Given the description of an element on the screen output the (x, y) to click on. 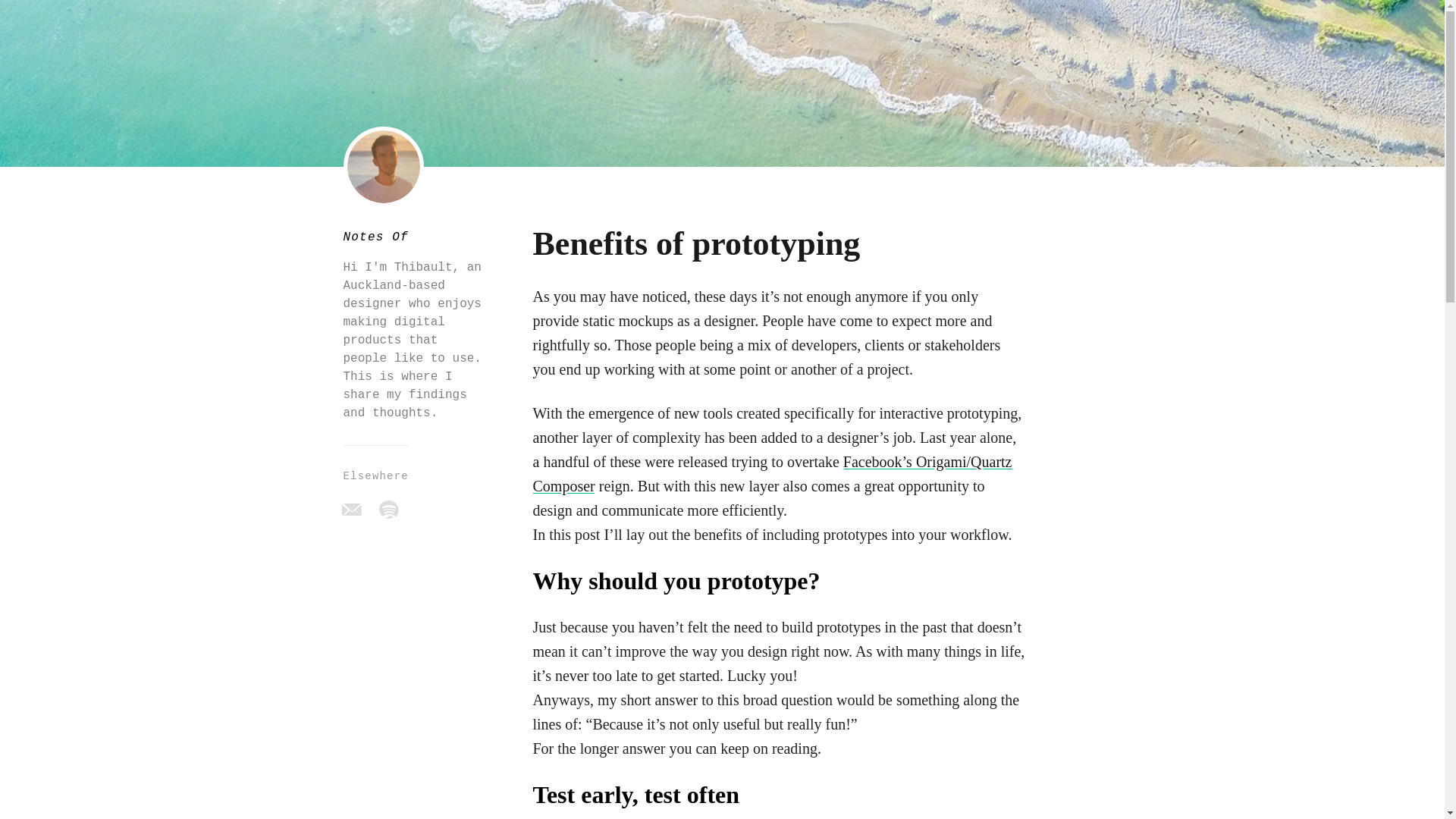
m (349, 508)
Benefits of prototyping (696, 243)
Notes Of (374, 237)
